Given the description of an element on the screen output the (x, y) to click on. 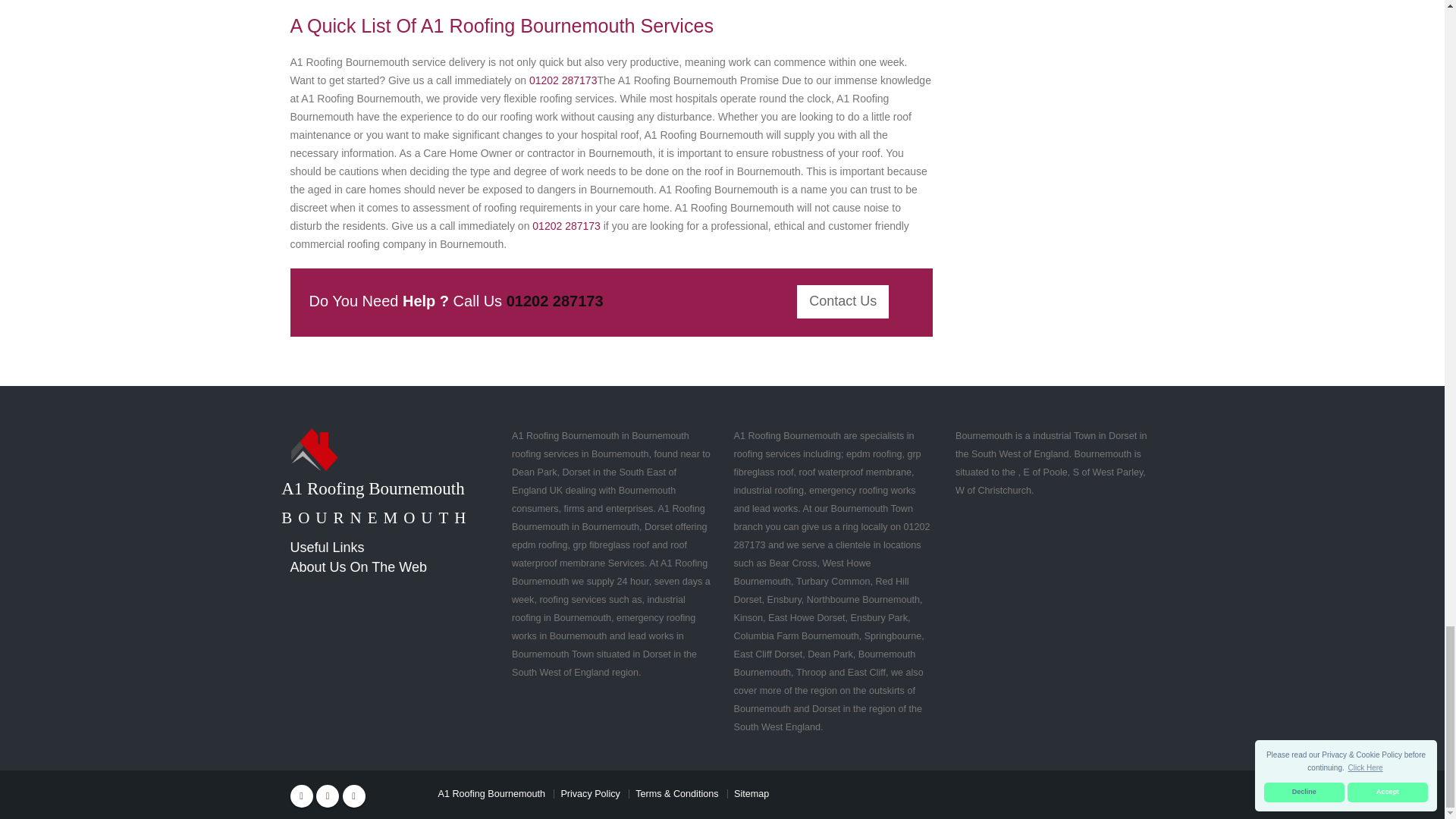
Facebook (301, 795)
Twitter (327, 795)
Linkedin (353, 795)
